Given the description of an element on the screen output the (x, y) to click on. 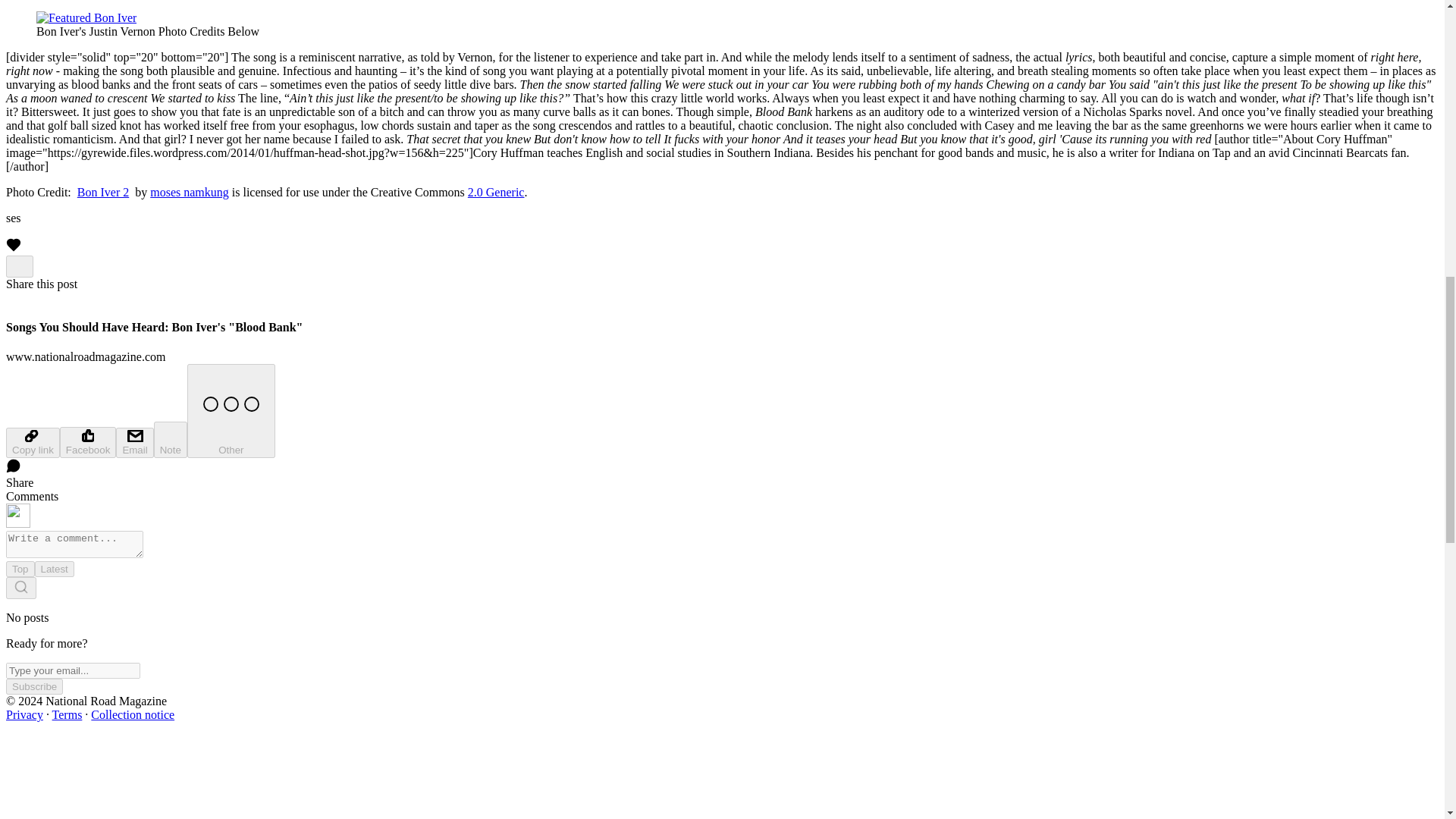
Other (231, 410)
Facebook (87, 441)
2.0 Generic (495, 192)
Featured Bon Iver (86, 18)
Copy link (32, 442)
Latest (54, 569)
Note (170, 439)
Terms (67, 714)
Privacy (24, 714)
Top (19, 569)
Subscribe (33, 686)
Bon Iver 2 (103, 192)
Email (134, 442)
moses namkung (188, 192)
